Given the description of an element on the screen output the (x, y) to click on. 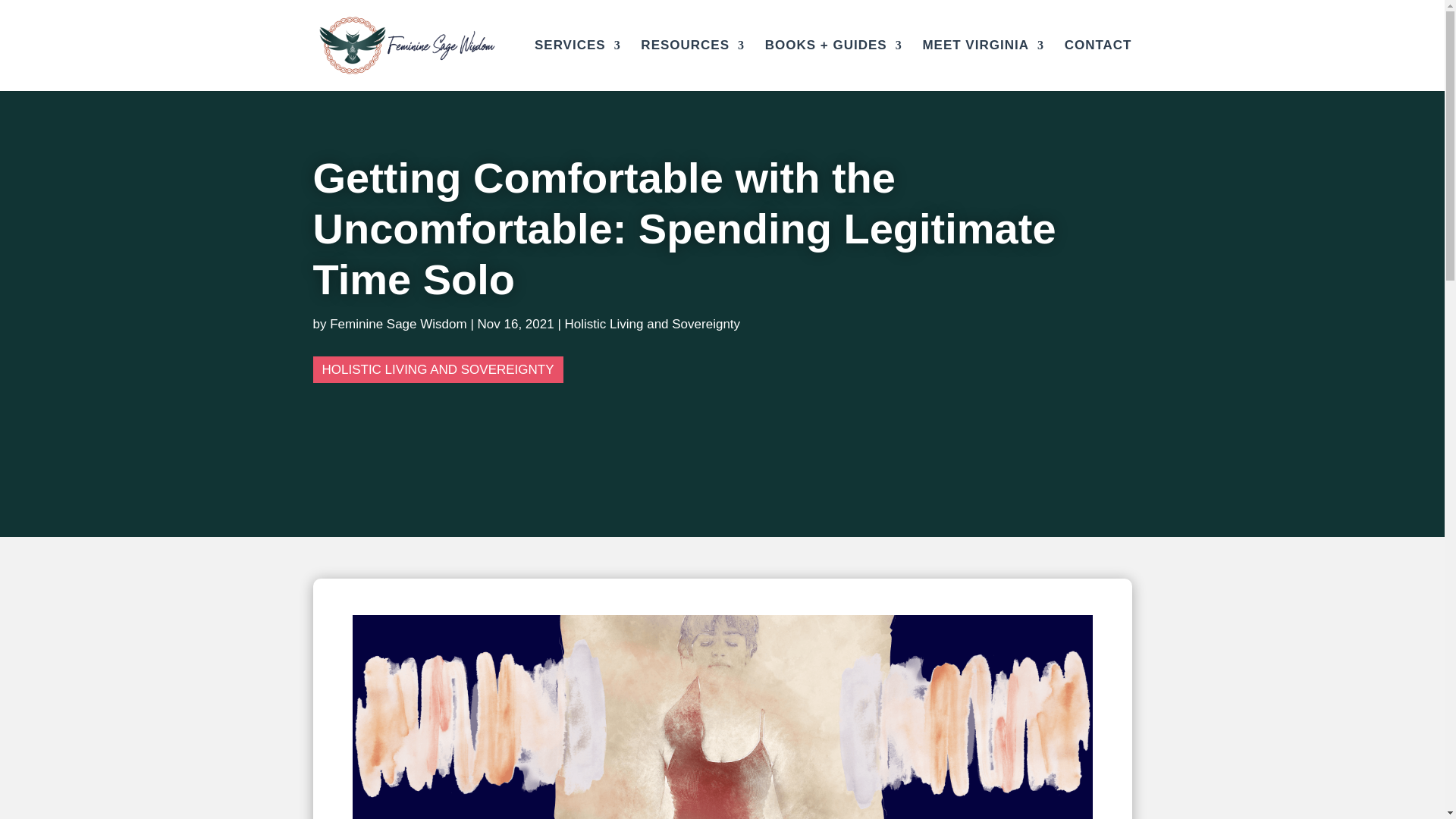
Feminine Sage Wisdom (397, 323)
RESOURCES (692, 65)
HOLISTIC LIVING AND SOVEREIGNTY (437, 369)
Posts by Feminine Sage Wisdom (397, 323)
MEET VIRGINIA (982, 65)
CONTACT (1098, 65)
Holistic Living and Sovereignty (652, 323)
SERVICES (577, 65)
